Given the description of an element on the screen output the (x, y) to click on. 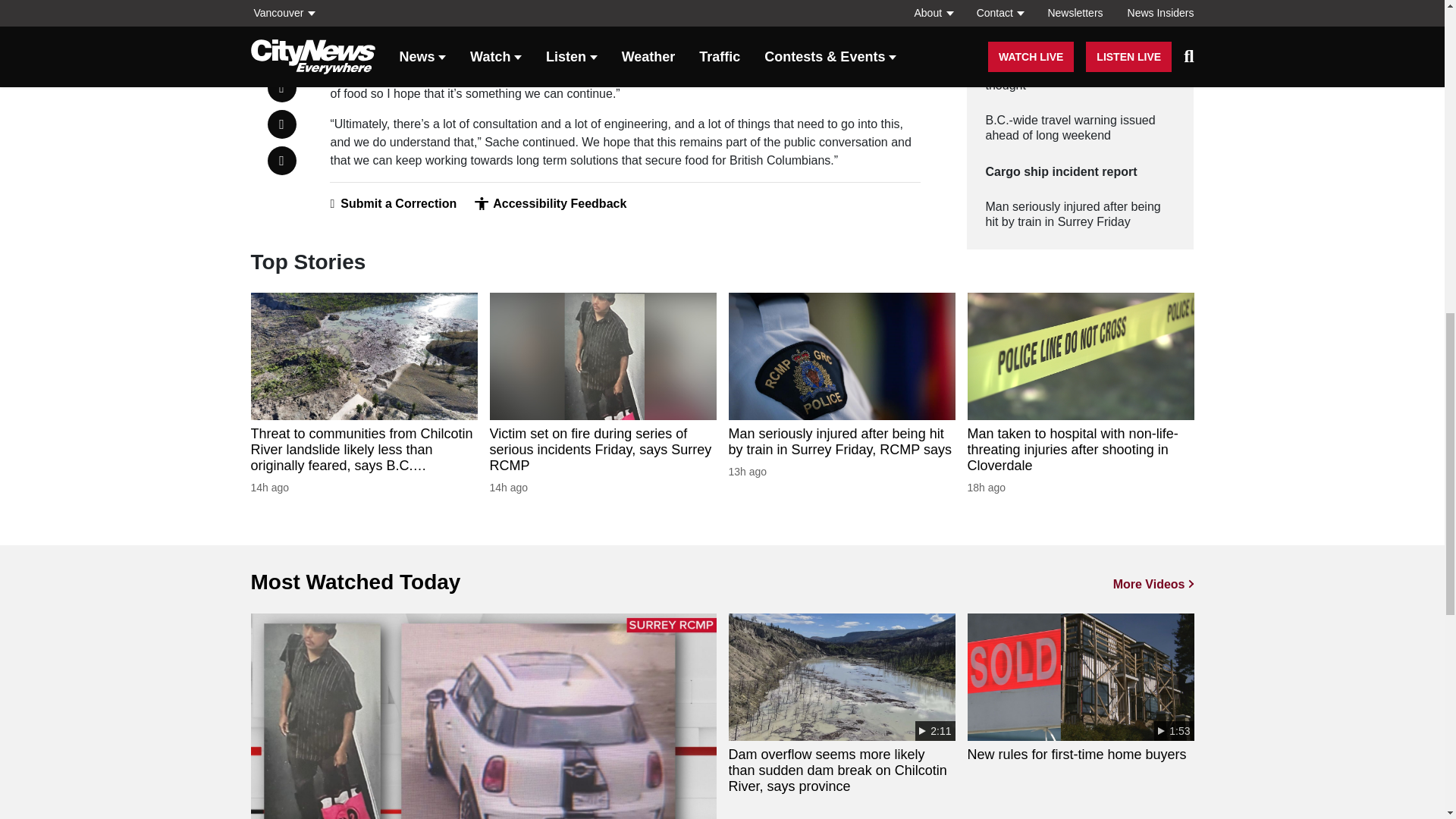
Accessibility Feedback (550, 203)
Submit a Correction (393, 203)
